Given the description of an element on the screen output the (x, y) to click on. 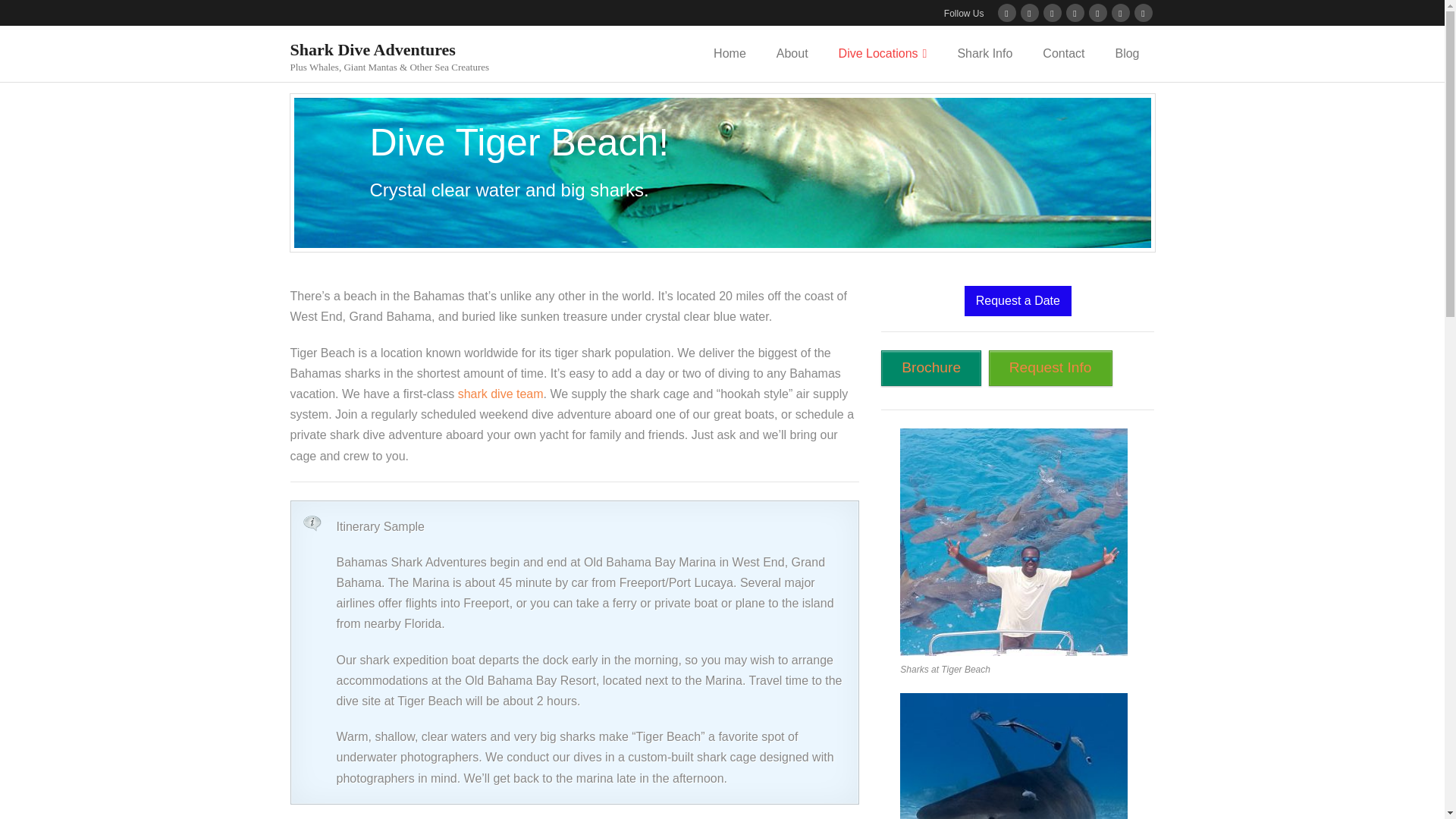
Home (729, 53)
Shark Dive Adventures (389, 49)
Shark Info (984, 53)
Blog (1126, 53)
Dive Locations (883, 53)
Contact (1063, 53)
About (792, 53)
